Given the description of an element on the screen output the (x, y) to click on. 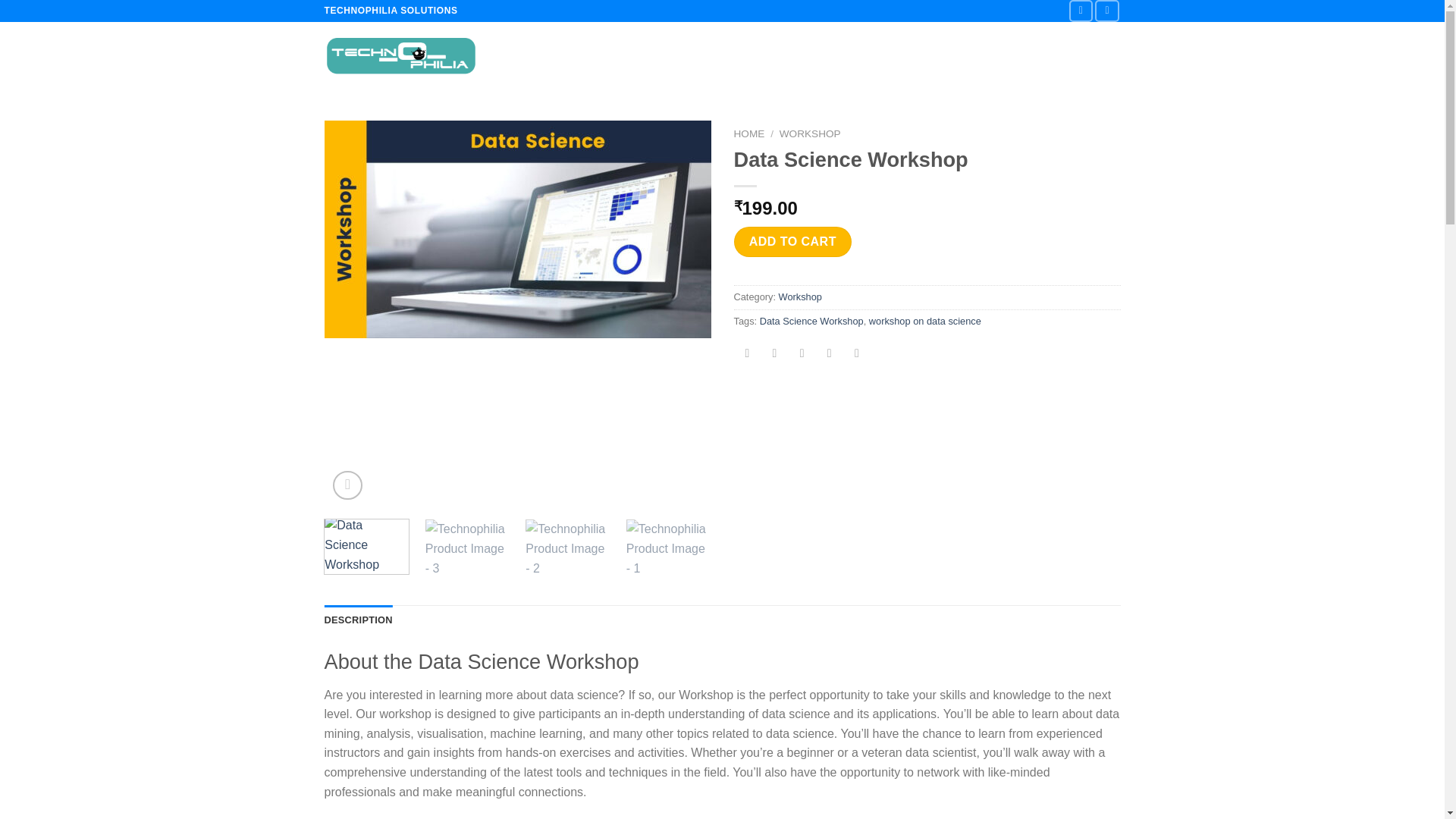
Share on Twitter (774, 355)
Share on LinkedIn (856, 355)
WORKSHOPS (874, 55)
Share on Facebook (747, 355)
Pin on Pinterest (828, 355)
Email to a Friend (801, 355)
Follow on Facebook (1080, 11)
COURSES (798, 55)
Zoom (347, 485)
Follow on Instagram (1106, 11)
OFFER (941, 55)
